Given the description of an element on the screen output the (x, y) to click on. 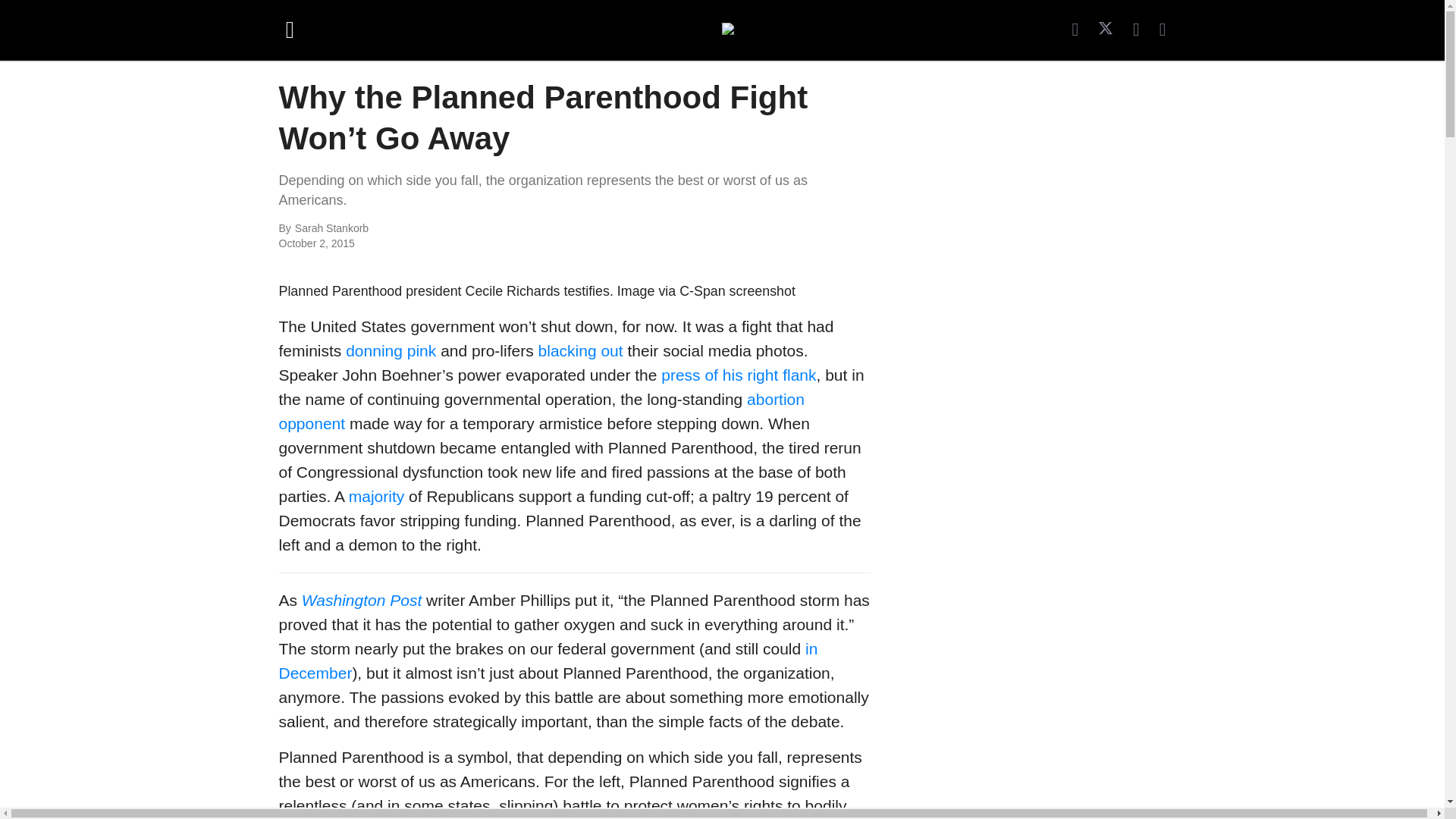
in December (548, 660)
majority (376, 496)
donning pink (390, 350)
abortion opponent (542, 411)
Sarah Stankorb (459, 228)
blacking out (580, 350)
Washington Post (361, 600)
press of his right flank (738, 375)
